Given the description of an element on the screen output the (x, y) to click on. 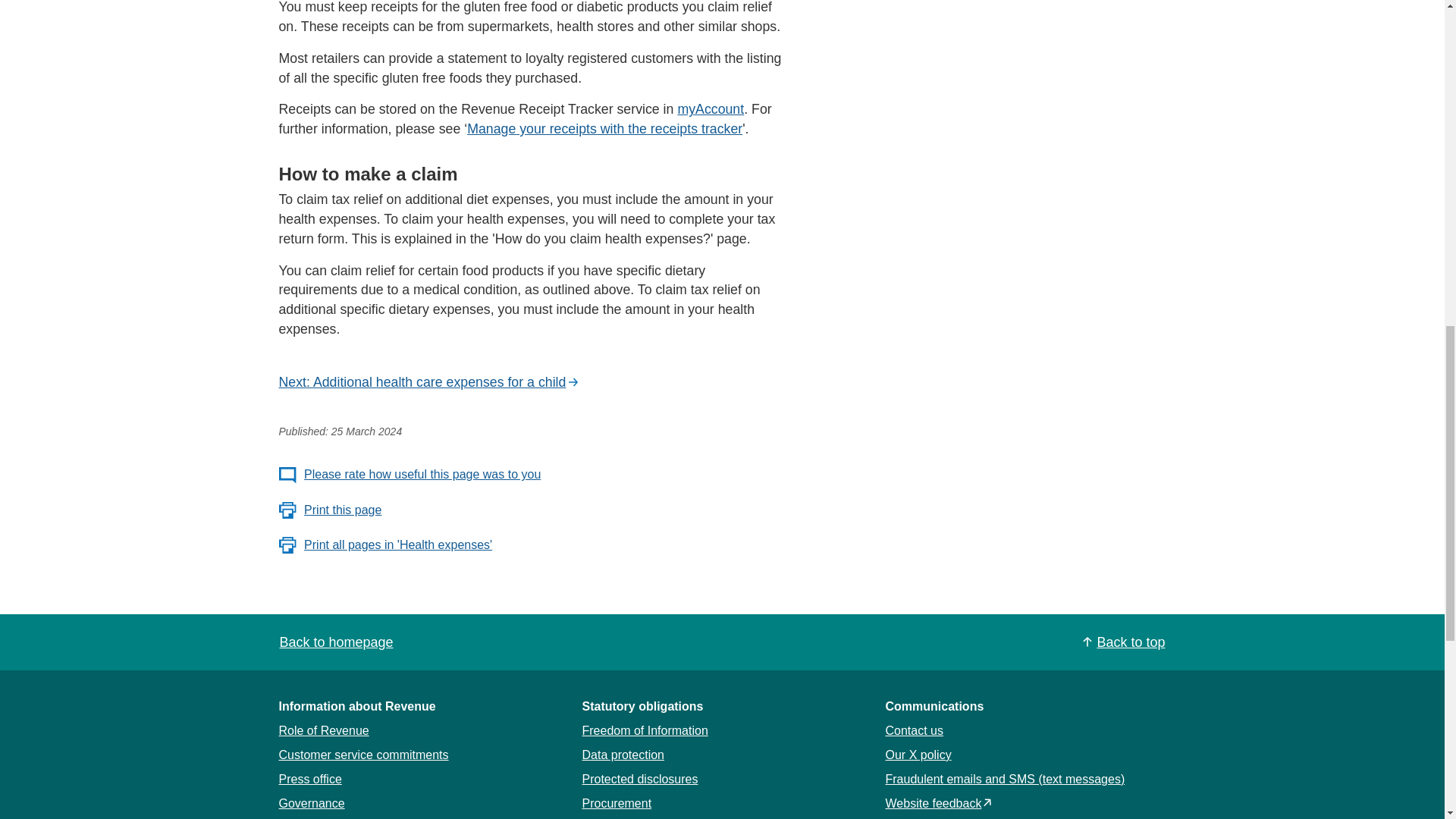
Print this page (330, 510)
Manage your receipts with the Receipts Tracker (604, 128)
Please rate how useful this page was to you (410, 474)
Next: Additional health care expenses for a child (429, 383)
Manage your receipts with the receipts tracker (604, 128)
Role of Revenue (324, 730)
myAccount (710, 109)
Customer service commitments (363, 754)
Print all pages in 'Health expenses' (386, 545)
Sign in to myAccount (710, 109)
